Given the description of an element on the screen output the (x, y) to click on. 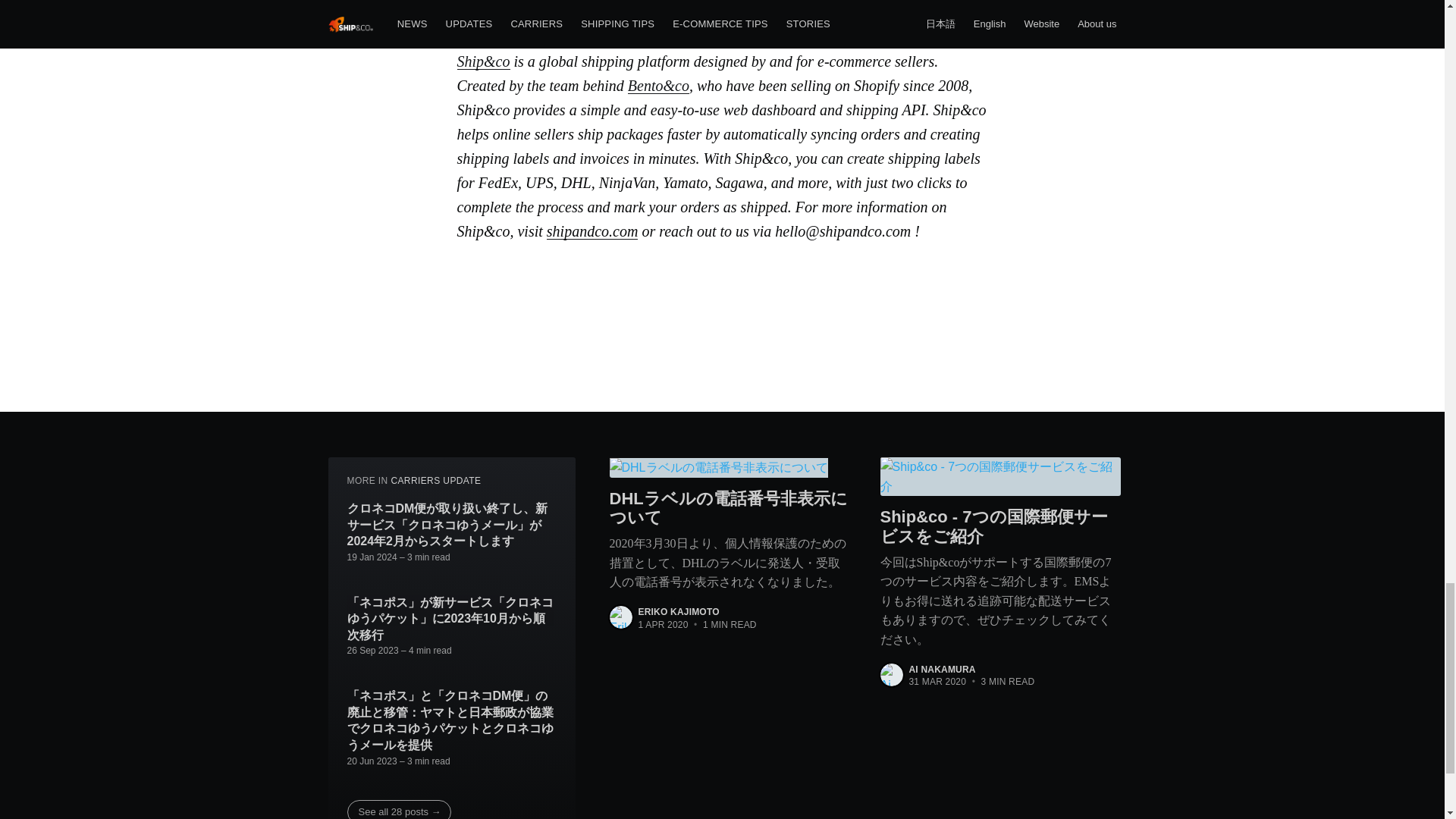
CARRIERS UPDATE (435, 480)
ERIKO KAJIMOTO (679, 611)
shipandco.com (593, 230)
AI NAKAMURA (941, 669)
